Given the description of an element on the screen output the (x, y) to click on. 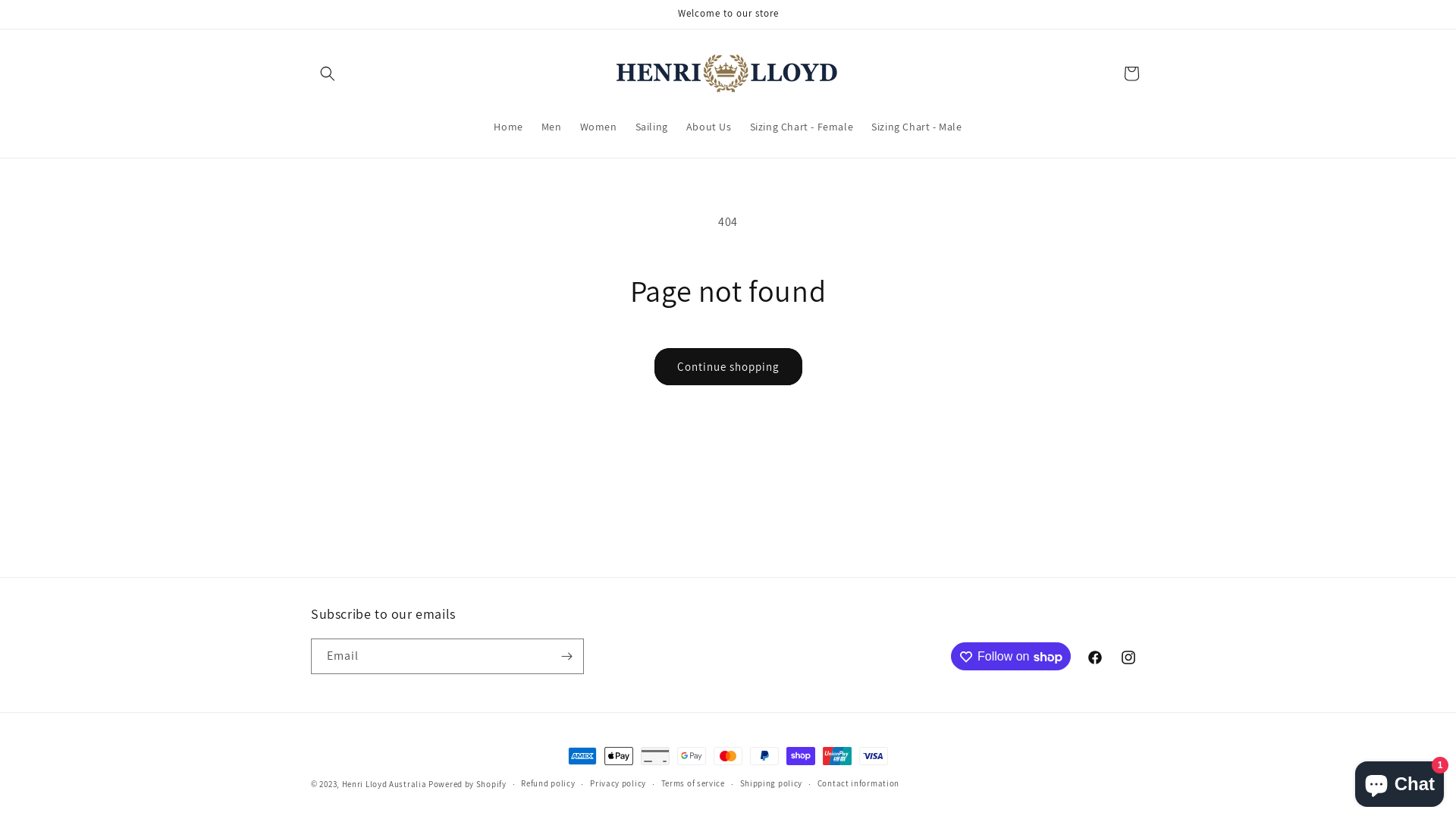
Powered by Shopify Element type: text (467, 783)
Sizing Chart - Male Element type: text (916, 126)
Contact information Element type: text (858, 783)
Shipping policy Element type: text (771, 783)
Cart Element type: text (1131, 73)
Continue shopping Element type: text (727, 366)
Home Element type: text (507, 126)
Privacy policy Element type: text (617, 783)
Women Element type: text (598, 126)
Shopify online store chat Element type: hover (1399, 780)
Refund policy Element type: text (547, 783)
Men Element type: text (551, 126)
Facebook Element type: text (1094, 657)
Henri Lloyd Australia Element type: text (384, 783)
Terms of service Element type: text (692, 783)
Sizing Chart - Female Element type: text (801, 126)
Sailing Element type: text (651, 126)
Instagram Element type: text (1128, 657)
About Us Element type: text (708, 126)
